Given the description of an element on the screen output the (x, y) to click on. 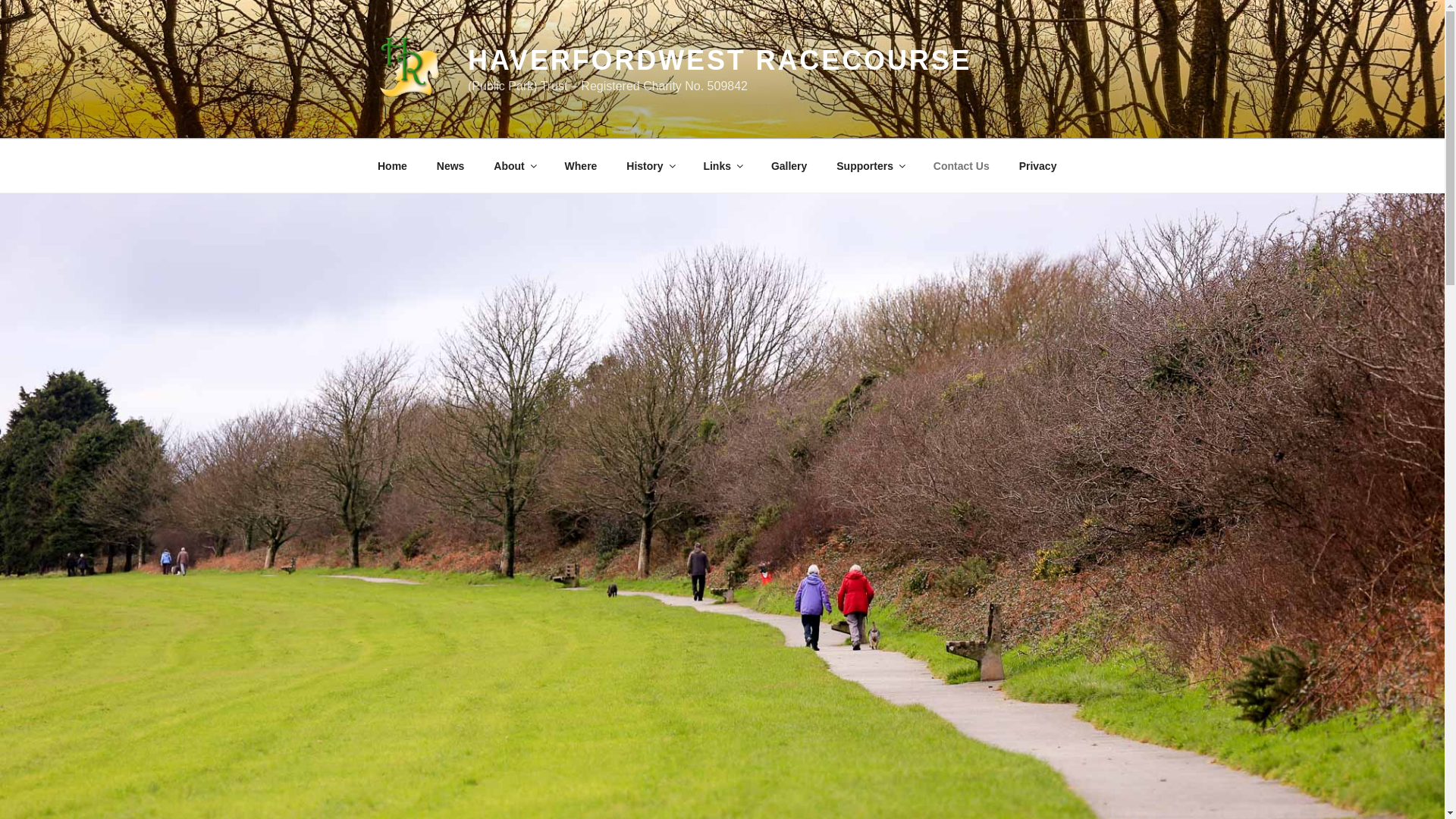
Gallery (788, 165)
Privacy (1038, 165)
Home (392, 165)
HAVERFORDWEST RACECOURSE (719, 60)
Where (580, 165)
Contact Us (961, 165)
Supporters (870, 165)
News (450, 165)
News (450, 165)
About (514, 165)
Links (722, 165)
History (649, 165)
